Given the description of an element on the screen output the (x, y) to click on. 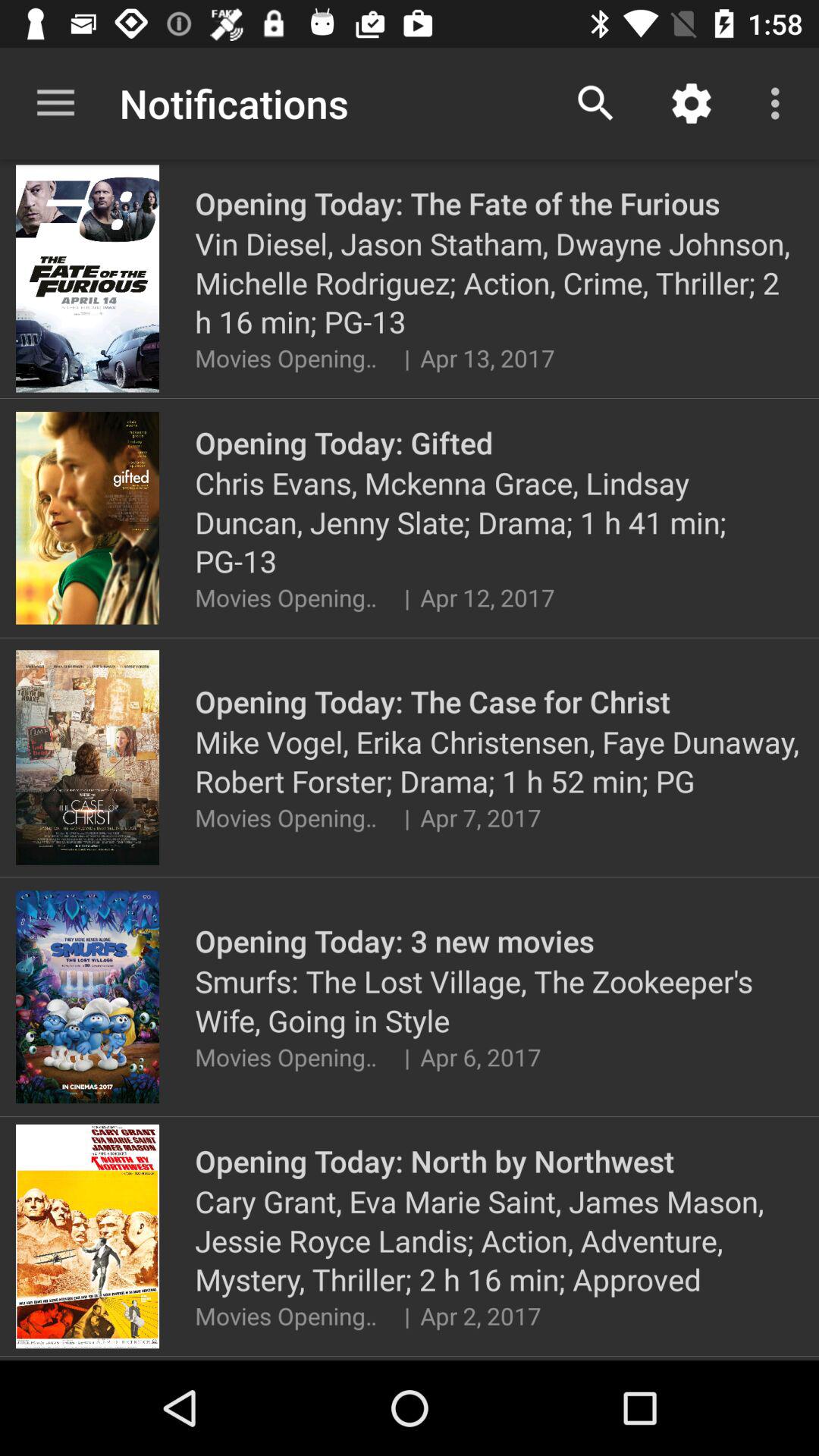
launch the icon above the vin diesel jason (779, 103)
